Given the description of an element on the screen output the (x, y) to click on. 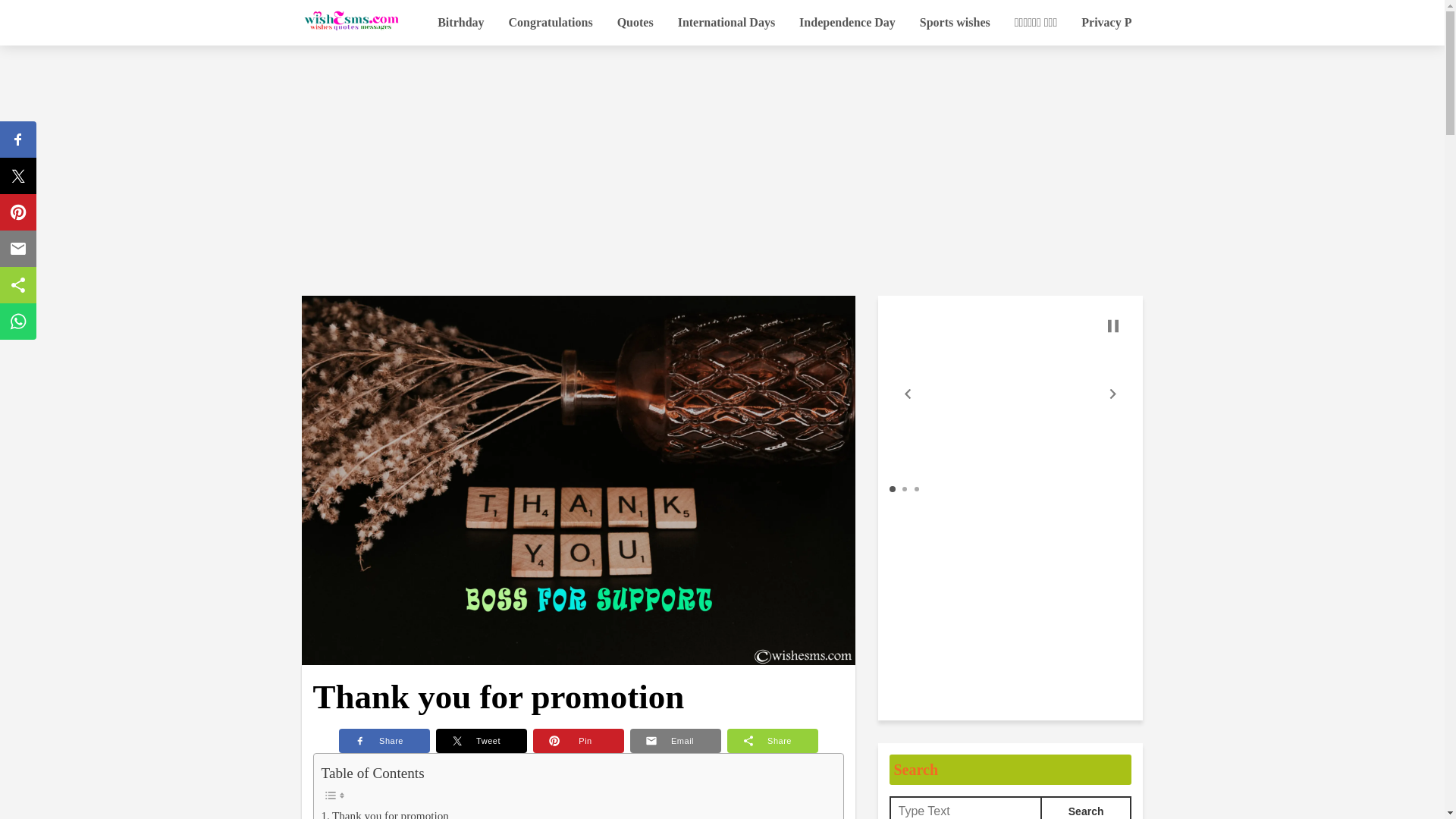
Thank you for promotion (384, 812)
Sports wishes (954, 22)
Search (1086, 807)
Congratulations (550, 22)
Independence Day (847, 22)
International Days (726, 22)
Privacy P (1106, 22)
Quotes (635, 22)
Thank you for promotion (384, 812)
Bitrhday (460, 22)
Search (1086, 807)
